Given the description of an element on the screen output the (x, y) to click on. 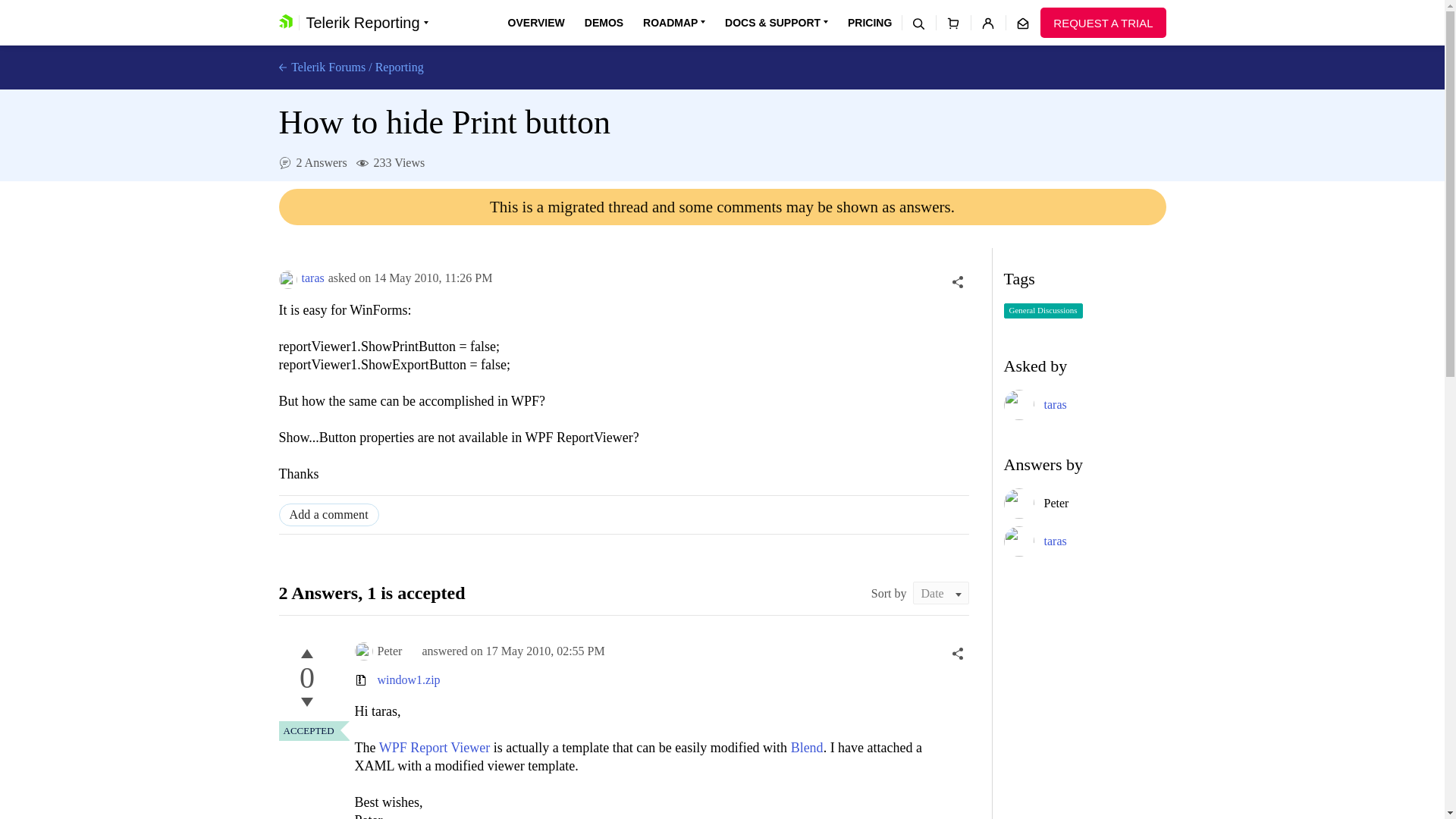
SKIP NAVIGATION (339, 7)
OVERVIEW (536, 22)
ROADMAP (673, 22)
Telerik Reporting (367, 22)
General Discussions (1043, 310)
